Given the description of an element on the screen output the (x, y) to click on. 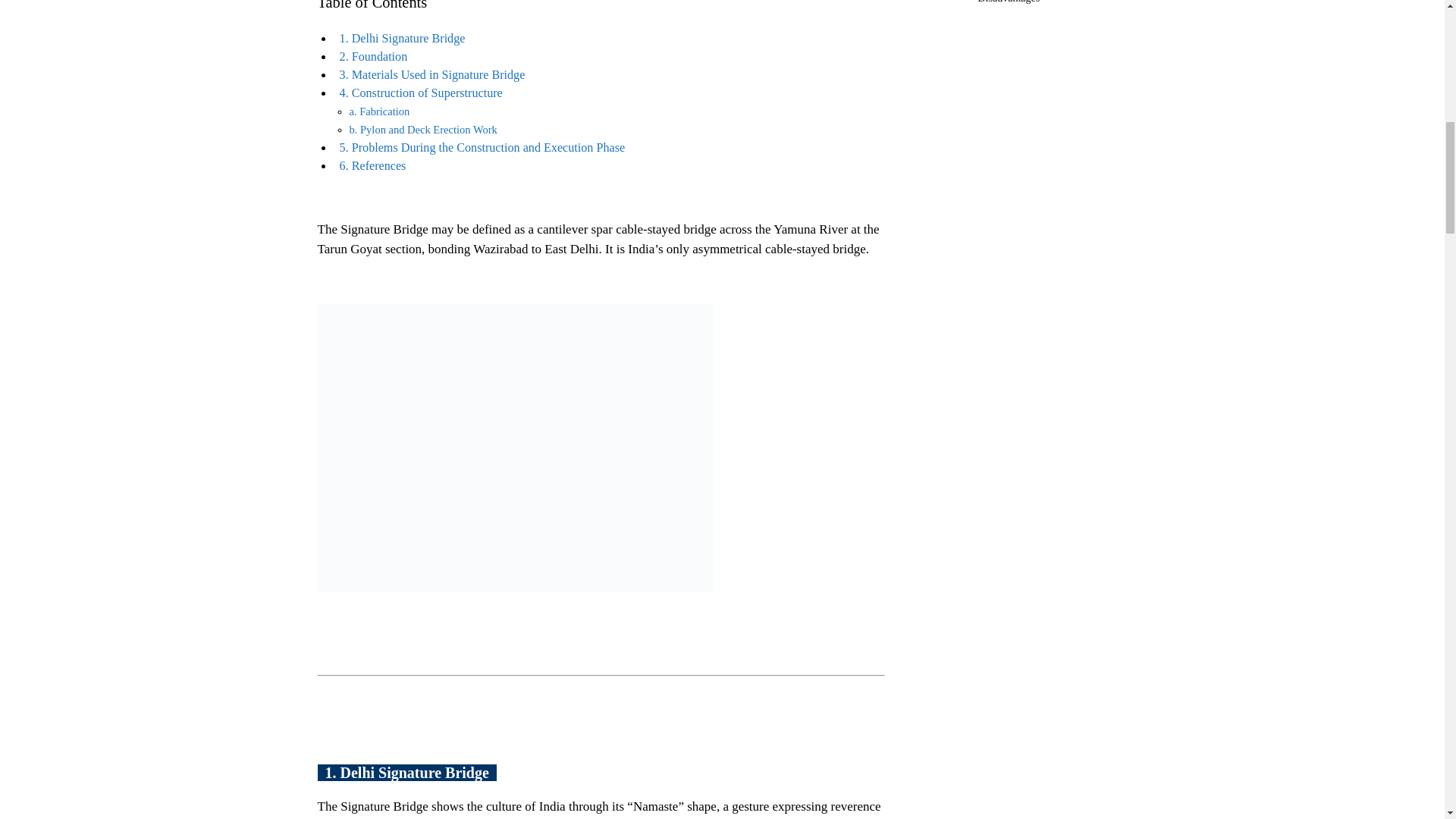
b. Pylon and Deck Erection Work (422, 129)
a. Fabrication (379, 111)
